Given the description of an element on the screen output the (x, y) to click on. 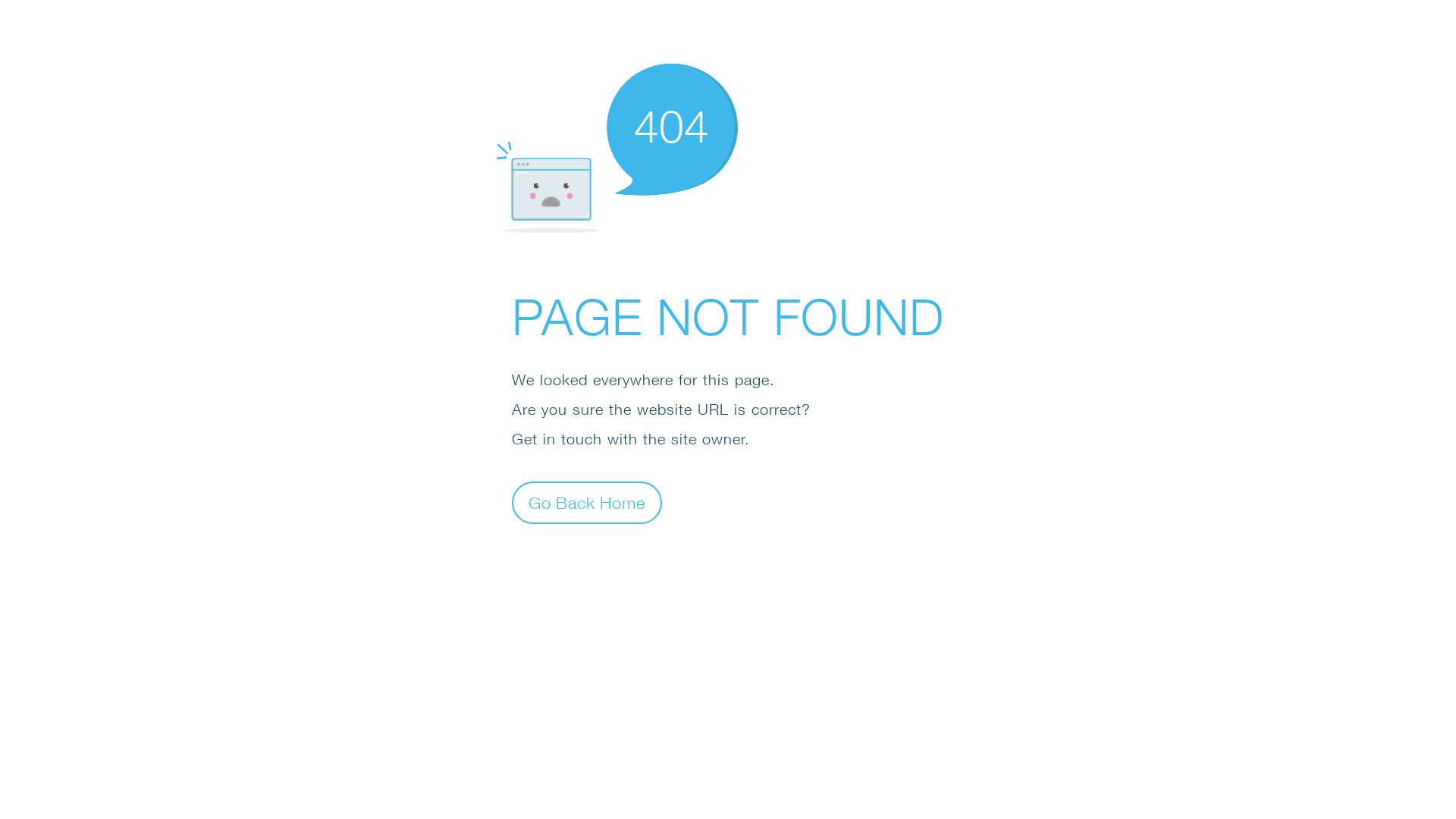
Go Back Home Element type: text (586, 502)
